Given the description of an element on the screen output the (x, y) to click on. 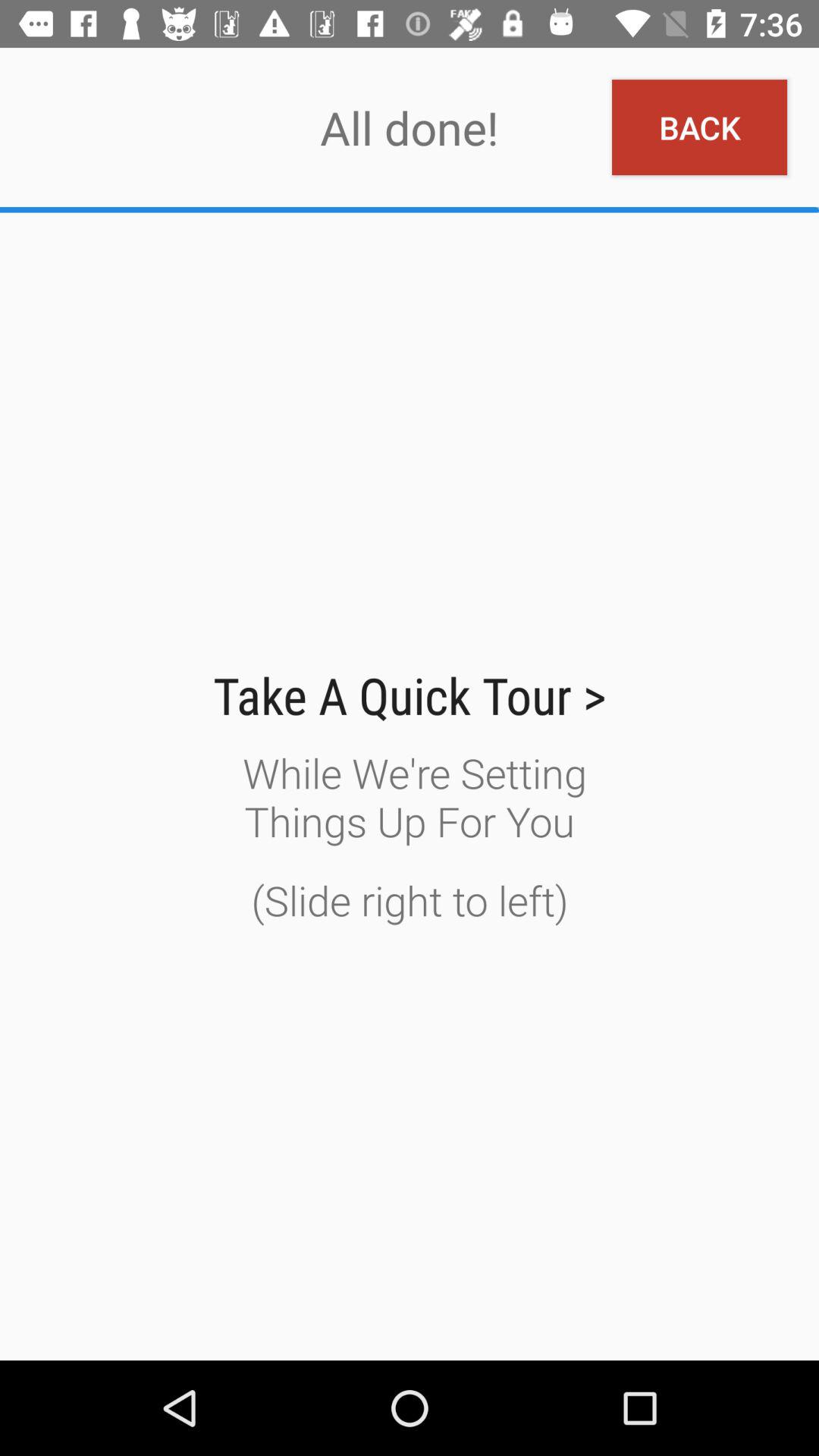
scroll to back (699, 127)
